Given the description of an element on the screen output the (x, y) to click on. 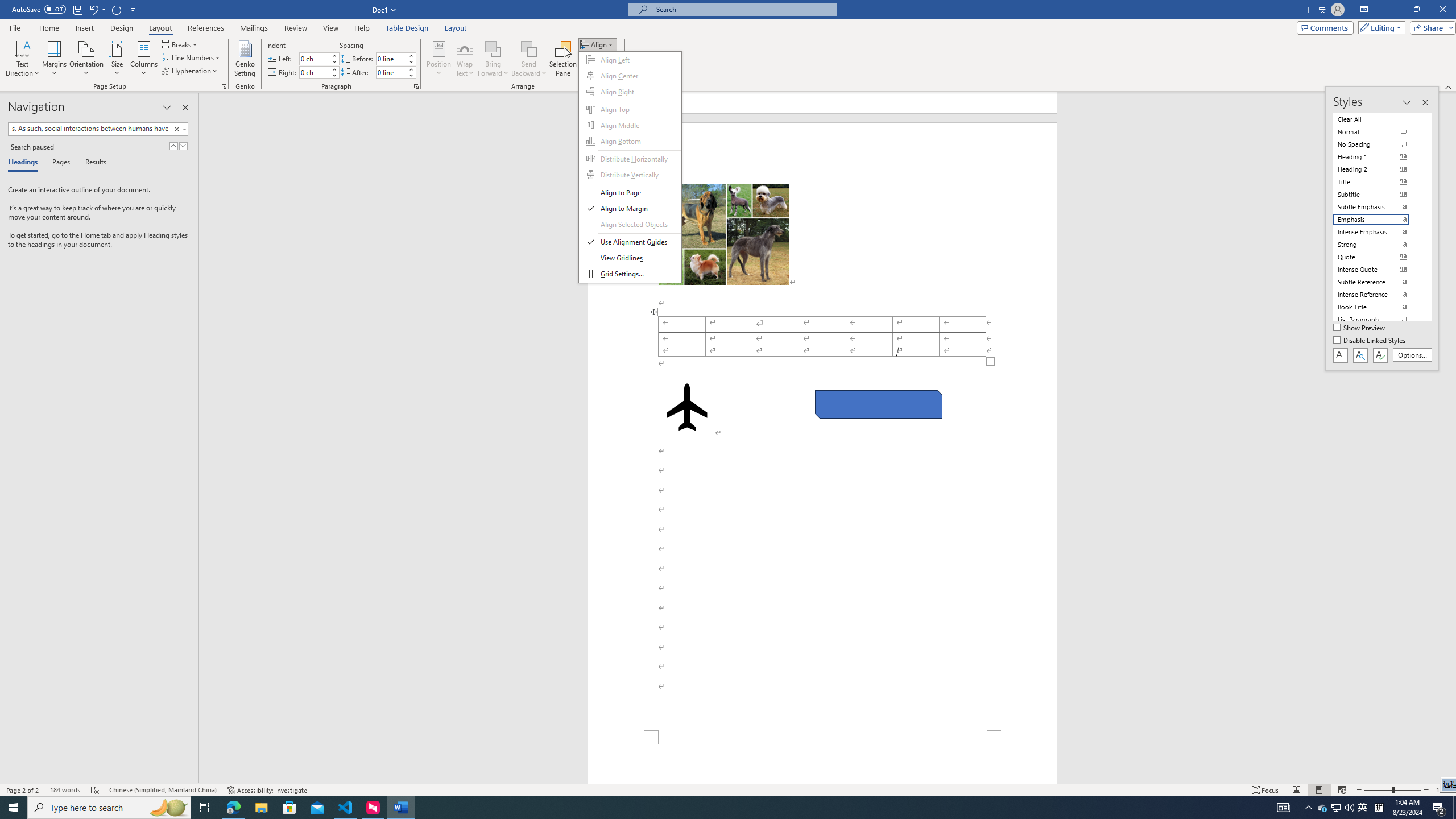
Heading 2 (1377, 169)
Spacing After (391, 72)
Options... (1412, 354)
Rectangle: Diagonal Corners Snipped 2 (878, 403)
Page Number Page 2 of 2 (22, 790)
Book Title (1377, 306)
Genko Setting... (244, 58)
